Given the description of an element on the screen output the (x, y) to click on. 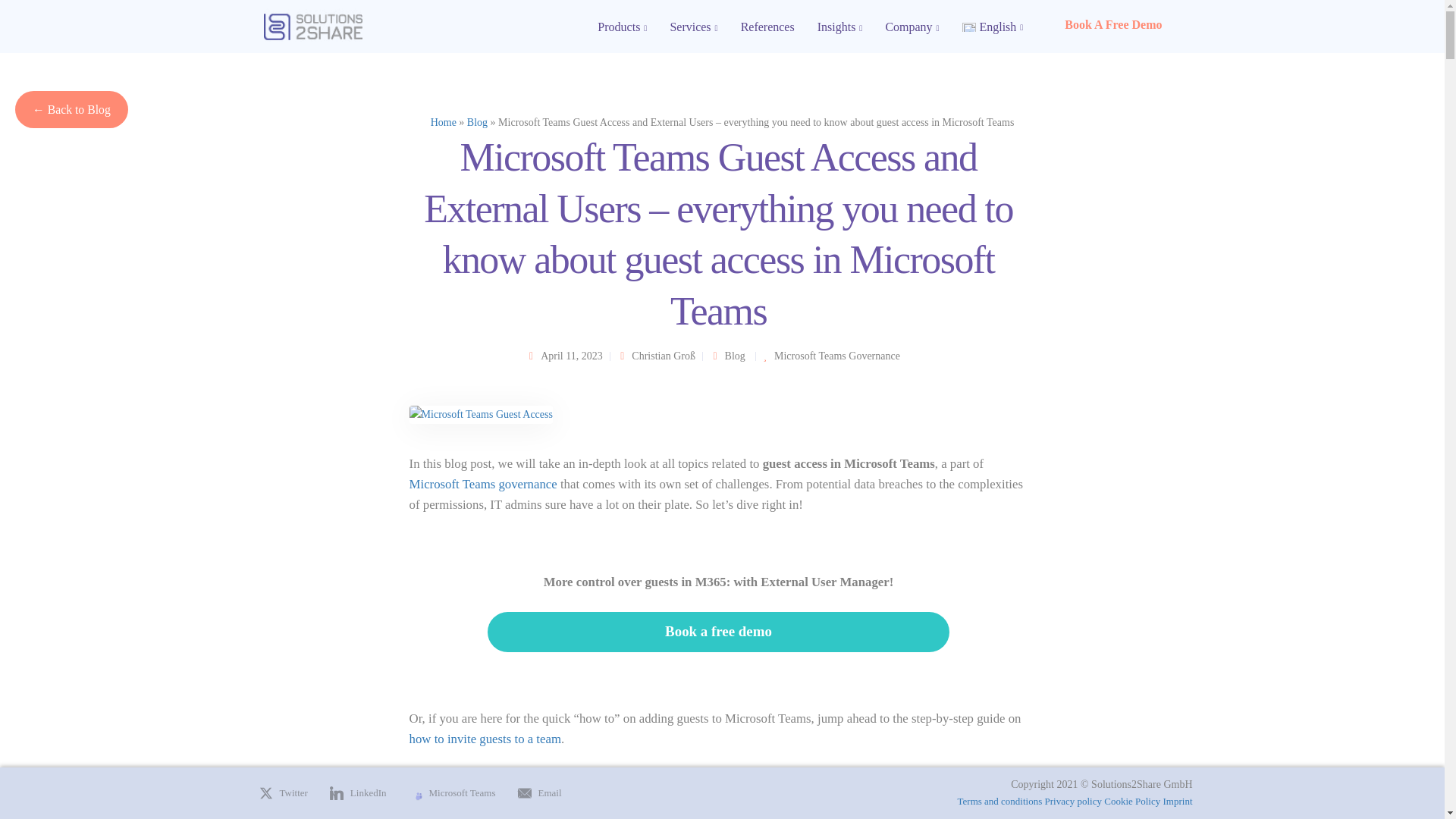
Home (443, 122)
Company (911, 26)
Products (622, 26)
Insights (840, 26)
Book a free demo (718, 631)
References (767, 26)
Microsoft Teams governance (483, 483)
Microsoft Teams Governance (836, 355)
Services (693, 26)
Blog (477, 122)
Book A Free Demo (1112, 24)
Services (693, 26)
Blog (735, 355)
Products (622, 26)
English (992, 26)
